Given the description of an element on the screen output the (x, y) to click on. 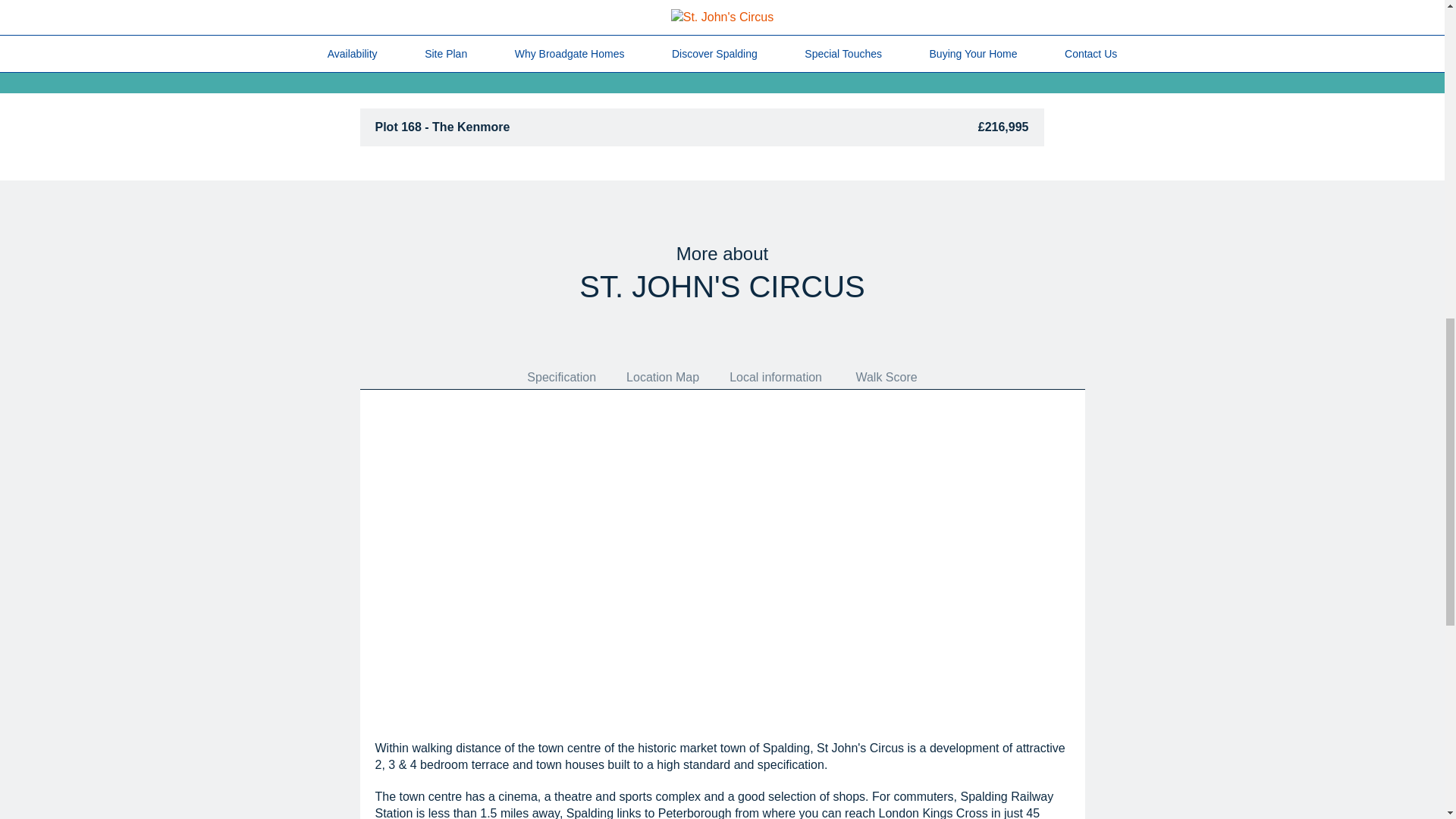
Walk Score (885, 376)
Local information (775, 376)
Clear filter (1034, 42)
Specification (561, 376)
Location Map (662, 376)
